Given the description of an element on the screen output the (x, y) to click on. 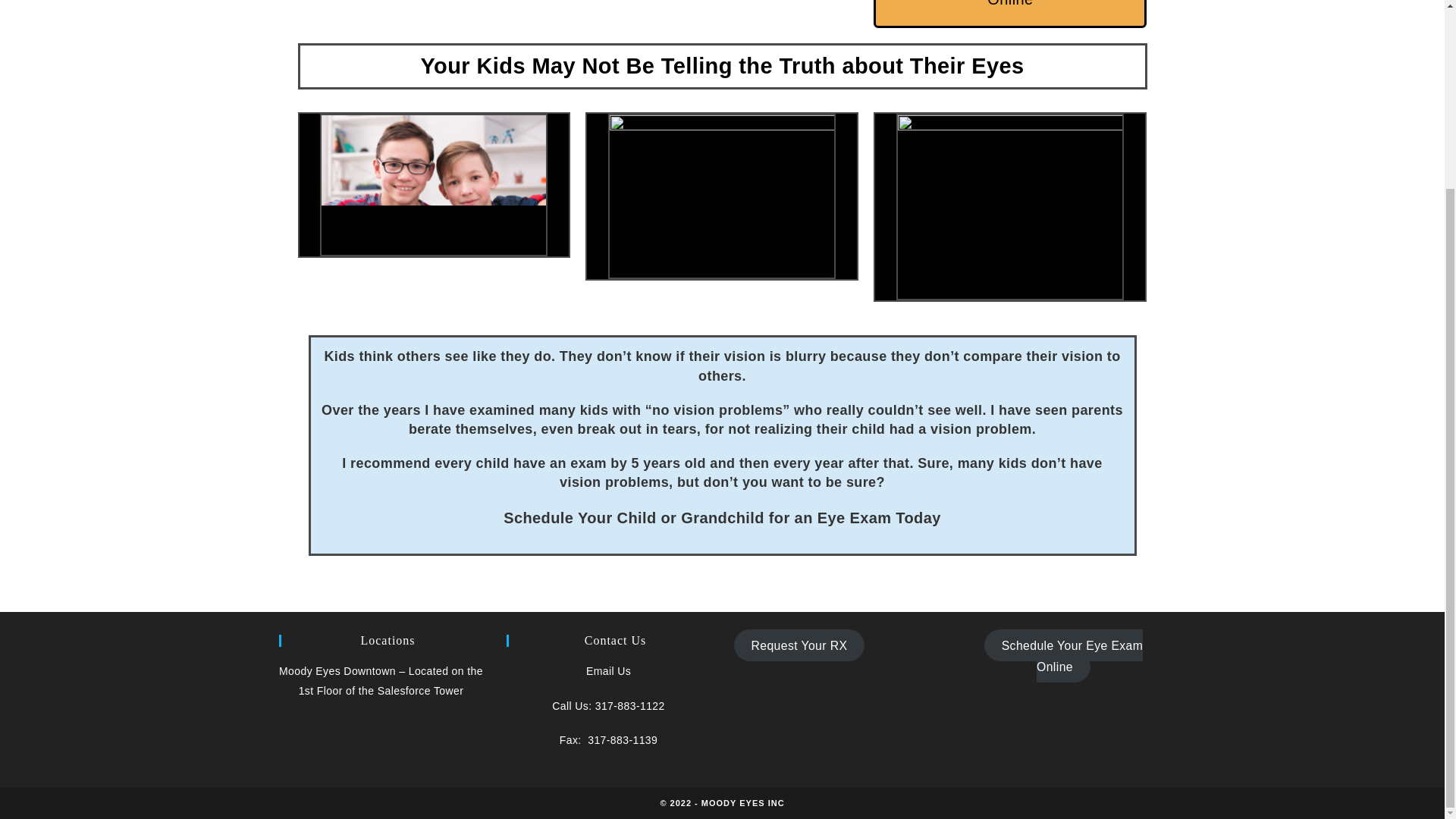
Email Us (608, 671)
Schedule Your Exam Online (1010, 13)
Schedule Your Eye Exam Online (1063, 655)
Call Us: 317-883-1122 (607, 705)
Request Your RX (798, 644)
